Given the description of an element on the screen output the (x, y) to click on. 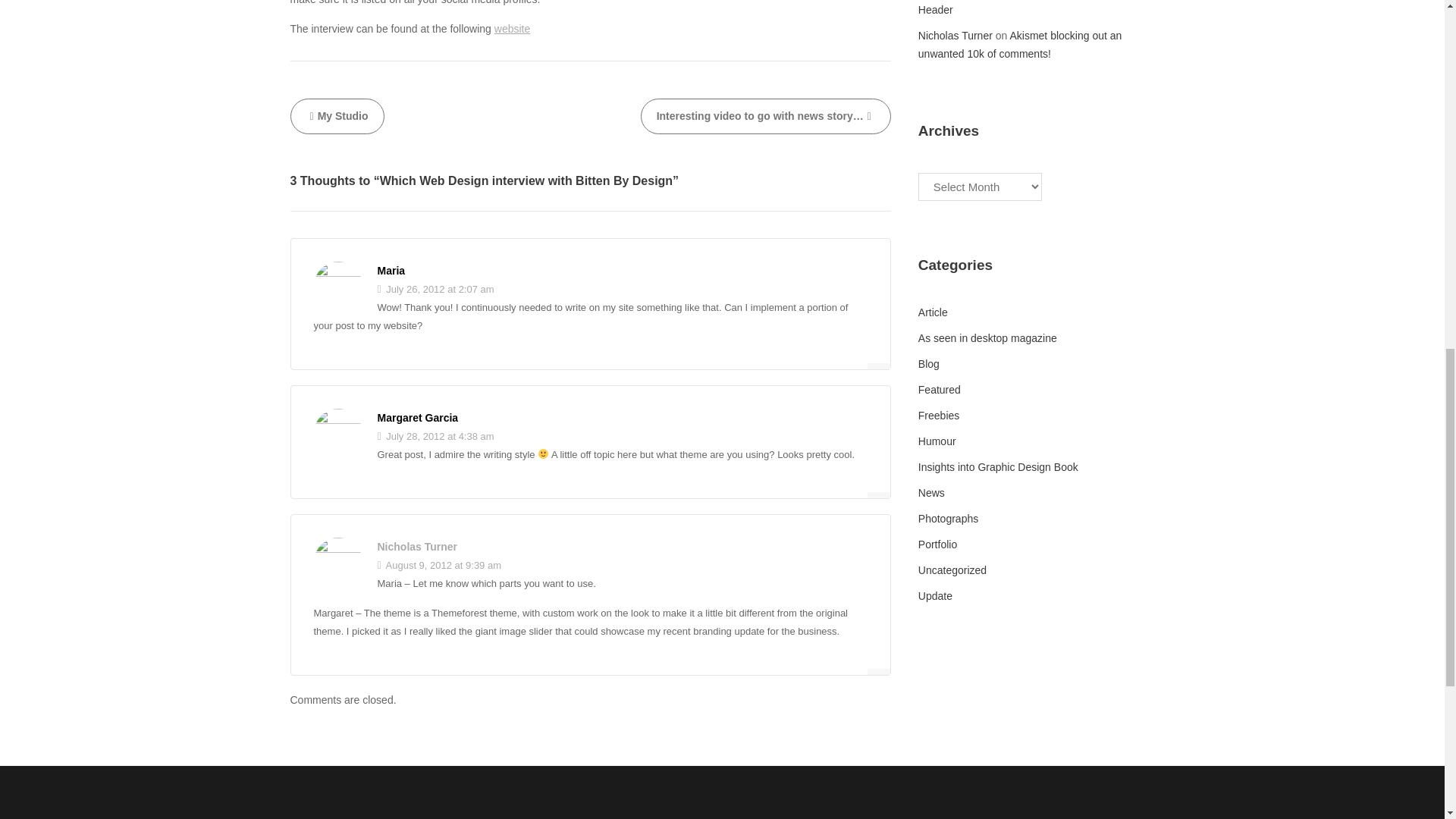
My Studio (336, 116)
August 9, 2012 at 9:39 am (439, 564)
Article (932, 312)
Nicholas Turner (417, 546)
Bitten By Design Interview (512, 28)
Akismet blocking out an unwanted 10k of comments! (1020, 44)
Nicholas Turner (955, 35)
George Hartnett Funerals Website Header (1023, 7)
website (512, 28)
July 28, 2012 at 4:38 am (436, 436)
July 26, 2012 at 2:07 am (436, 288)
